Given the description of an element on the screen output the (x, y) to click on. 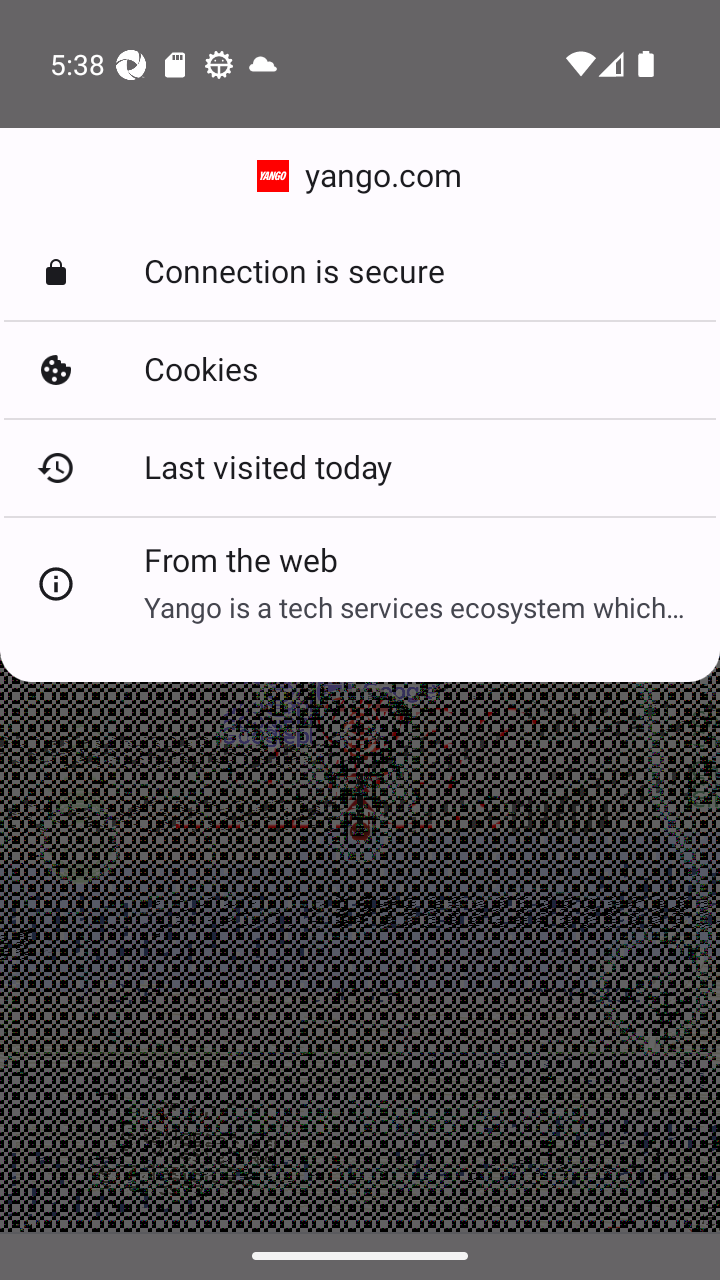
yango.com (360, 176)
Connection is secure (360, 272)
Cookies (360, 370)
Last visited today (360, 467)
